Given the description of an element on the screen output the (x, y) to click on. 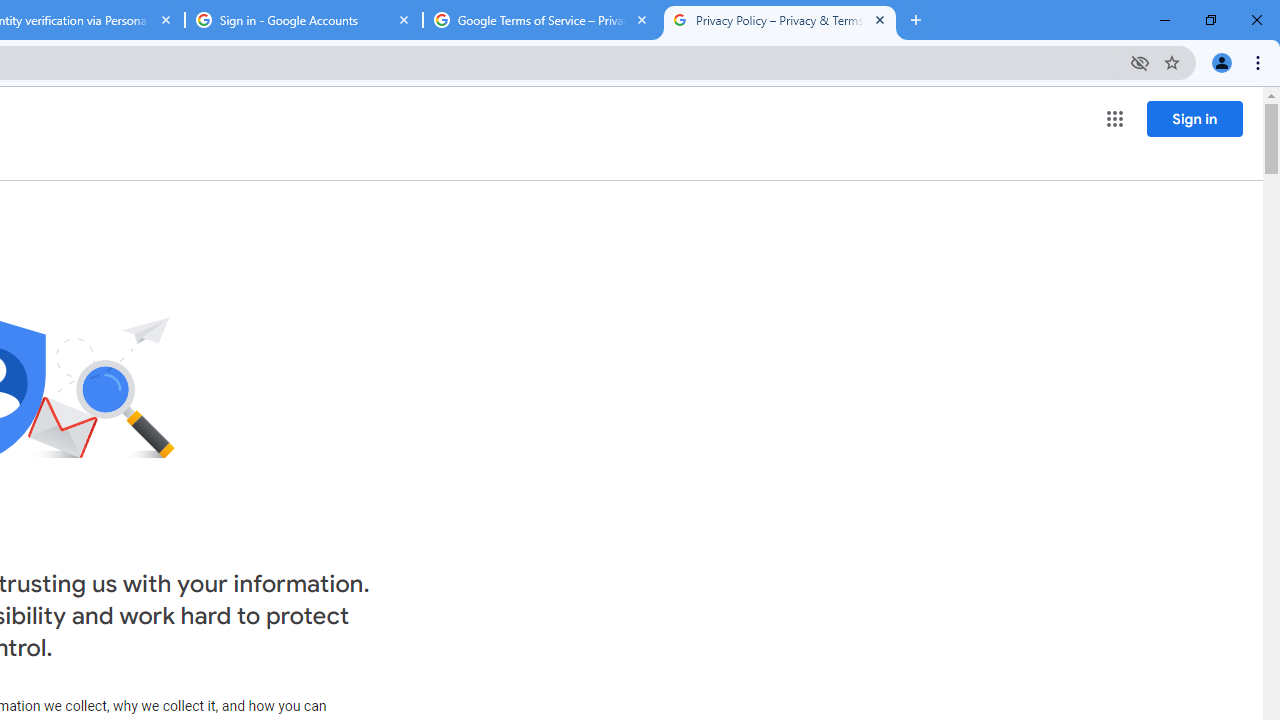
Sign in - Google Accounts (304, 20)
